Given the description of an element on the screen output the (x, y) to click on. 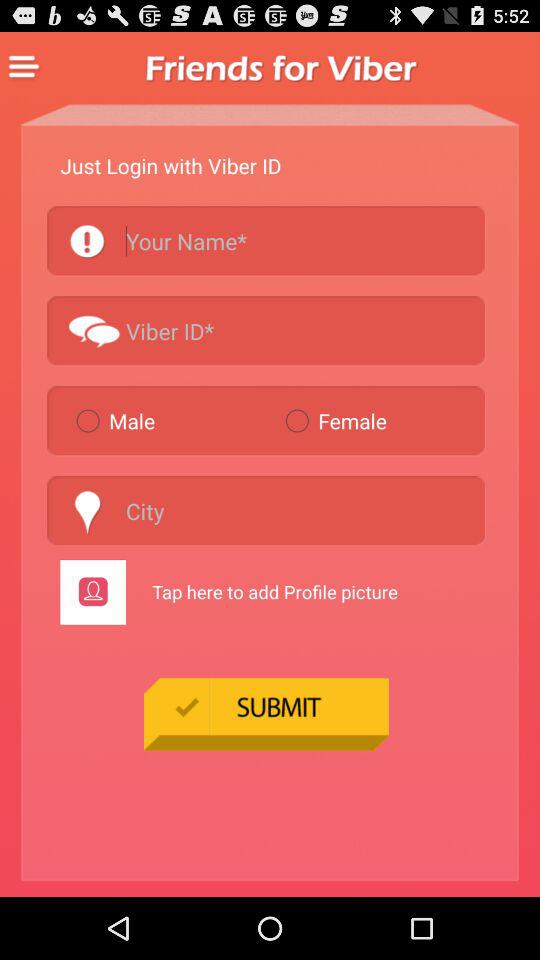
swipe to the female item (380, 420)
